Given the description of an element on the screen output the (x, y) to click on. 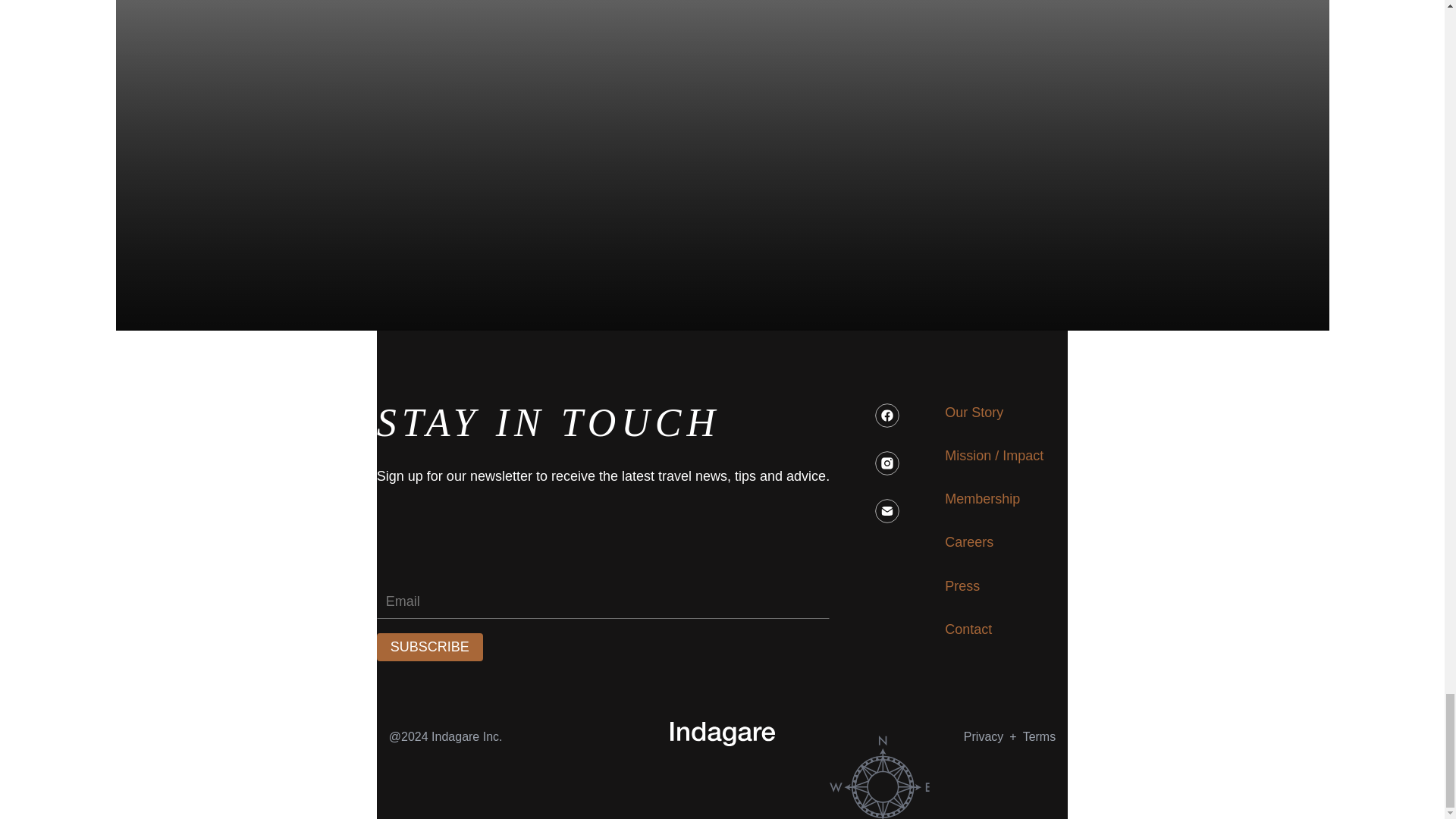
Careers (968, 542)
Press (961, 586)
Membership (982, 498)
Contact (967, 629)
Terms (983, 736)
Our Story (1040, 736)
SUBSCRIBE (973, 412)
